Given the description of an element on the screen output the (x, y) to click on. 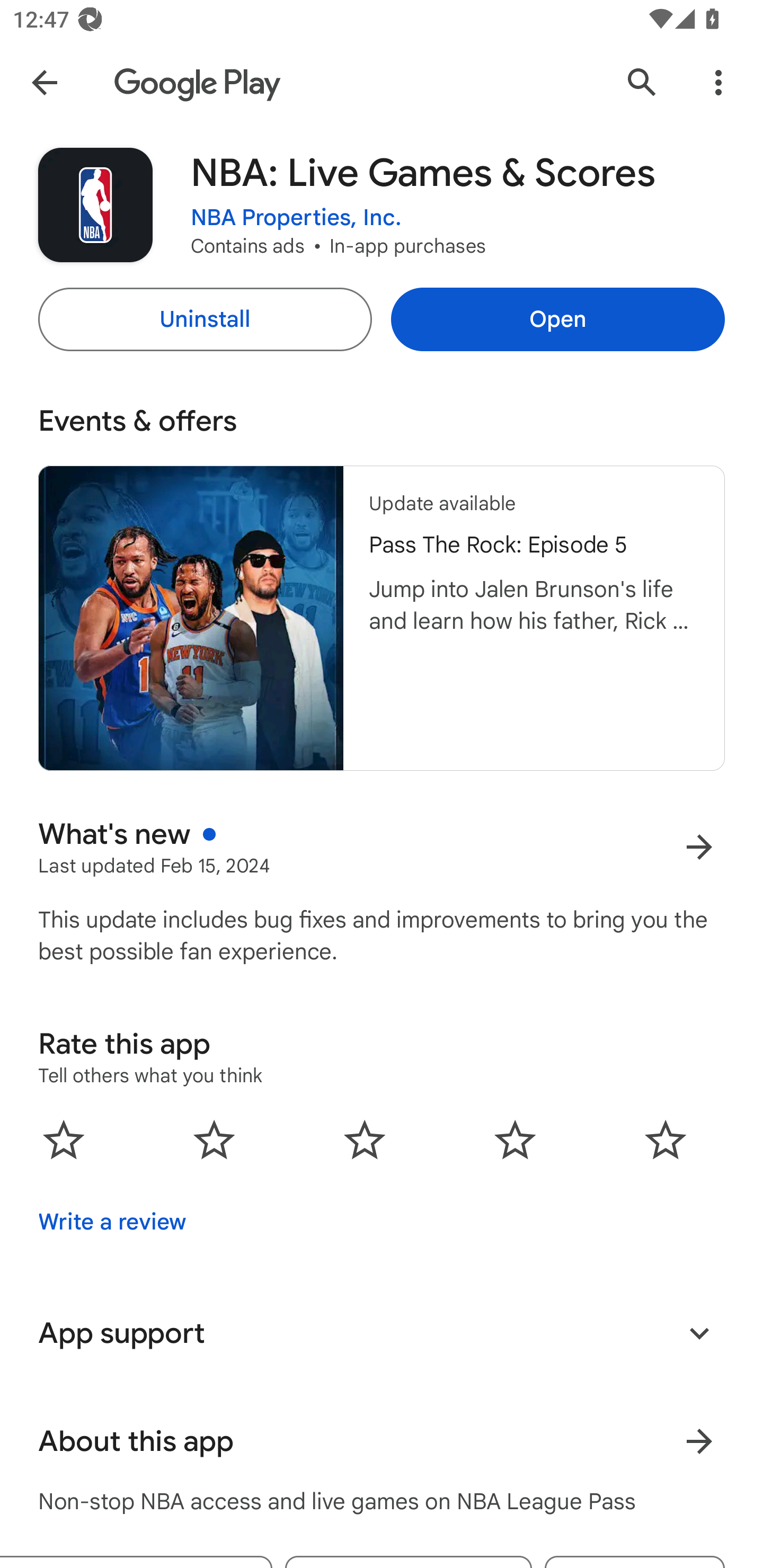
Navigate up (44, 81)
Search Google Play (642, 81)
More Options (718, 81)
NBA Properties, Inc. (295, 217)
Uninstall (205, 318)
Open (557, 318)
More results for What's new (699, 847)
0.0 (364, 1138)
Write a review (112, 1221)
App support Expand (381, 1333)
Expand (699, 1333)
About this app Learn more About this app (381, 1441)
Learn more About this app (699, 1441)
